Given the description of an element on the screen output the (x, y) to click on. 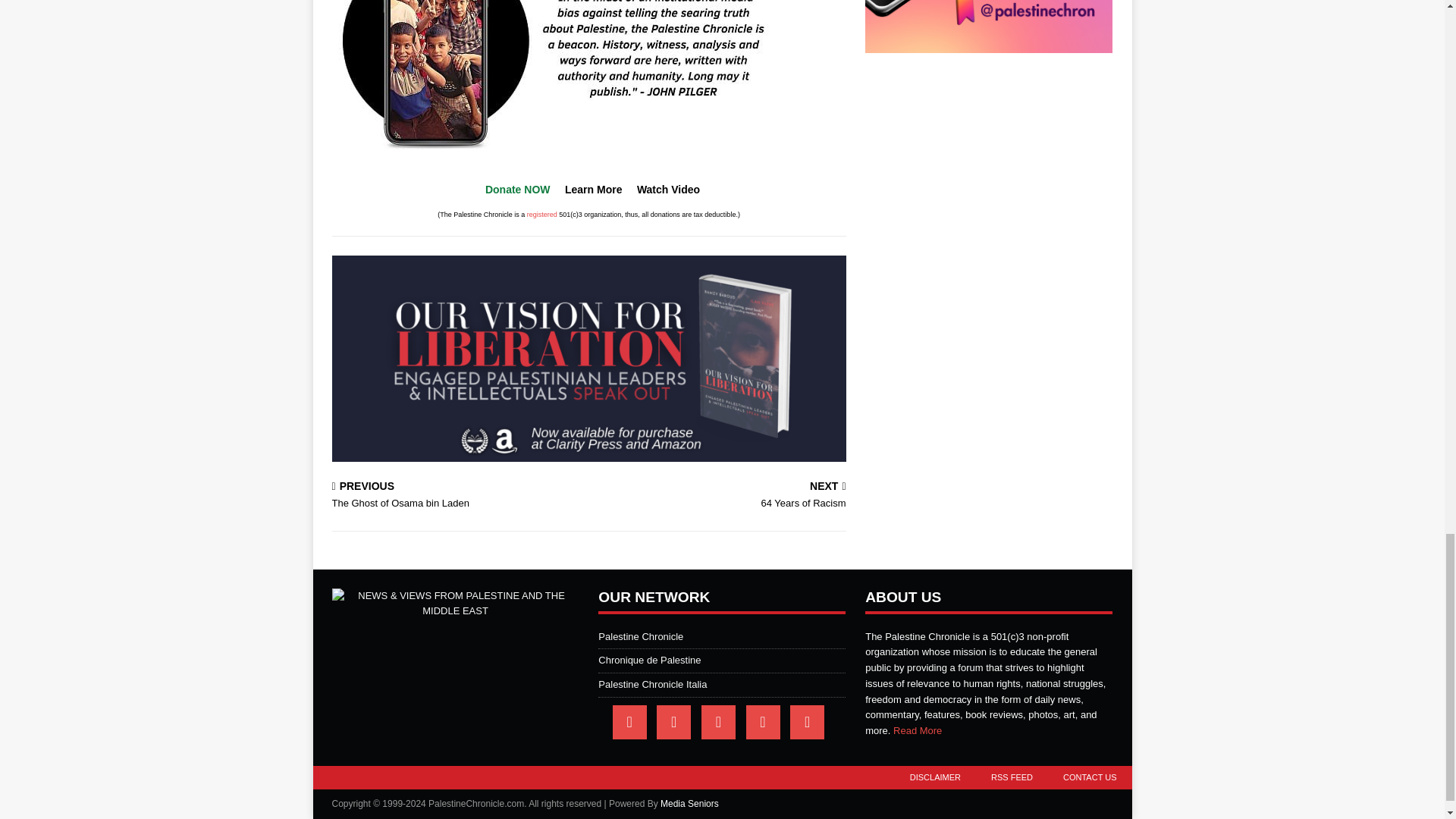
Watch Video (668, 189)
registered (457, 495)
Learn More (542, 214)
Donate NOW (720, 495)
